Given the description of an element on the screen output the (x, y) to click on. 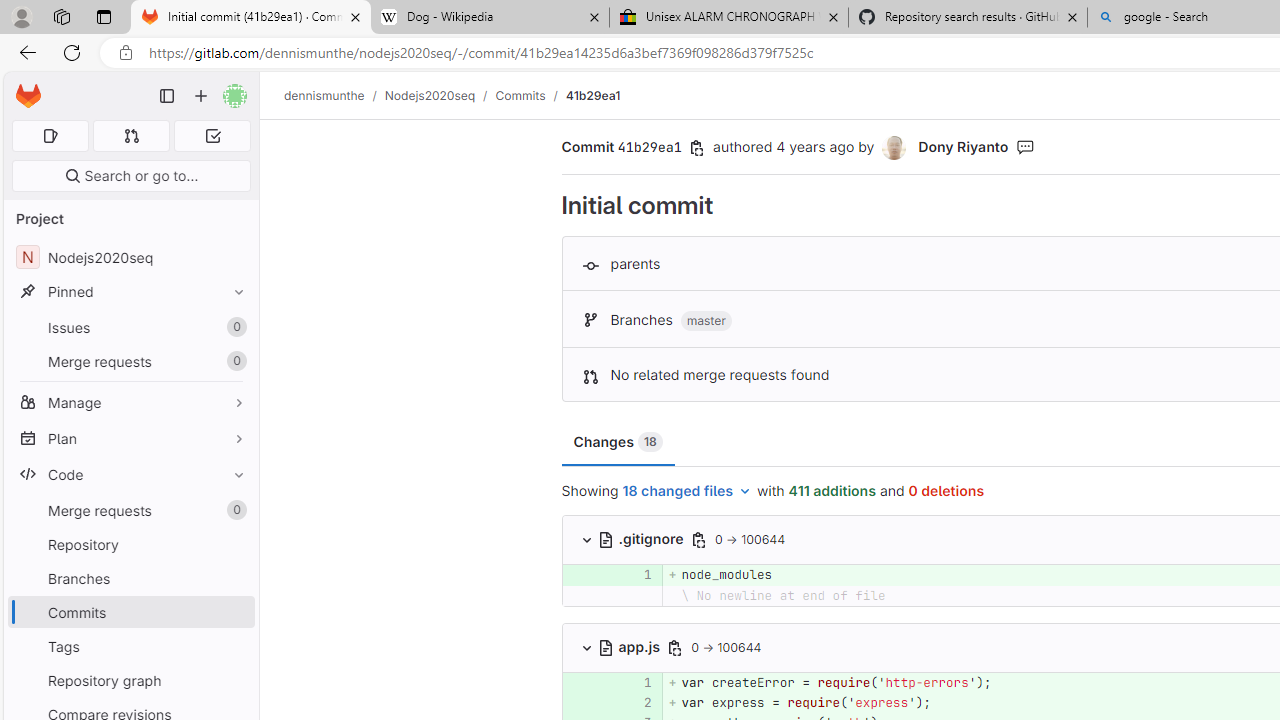
Tags (130, 646)
